Given the description of an element on the screen output the (x, y) to click on. 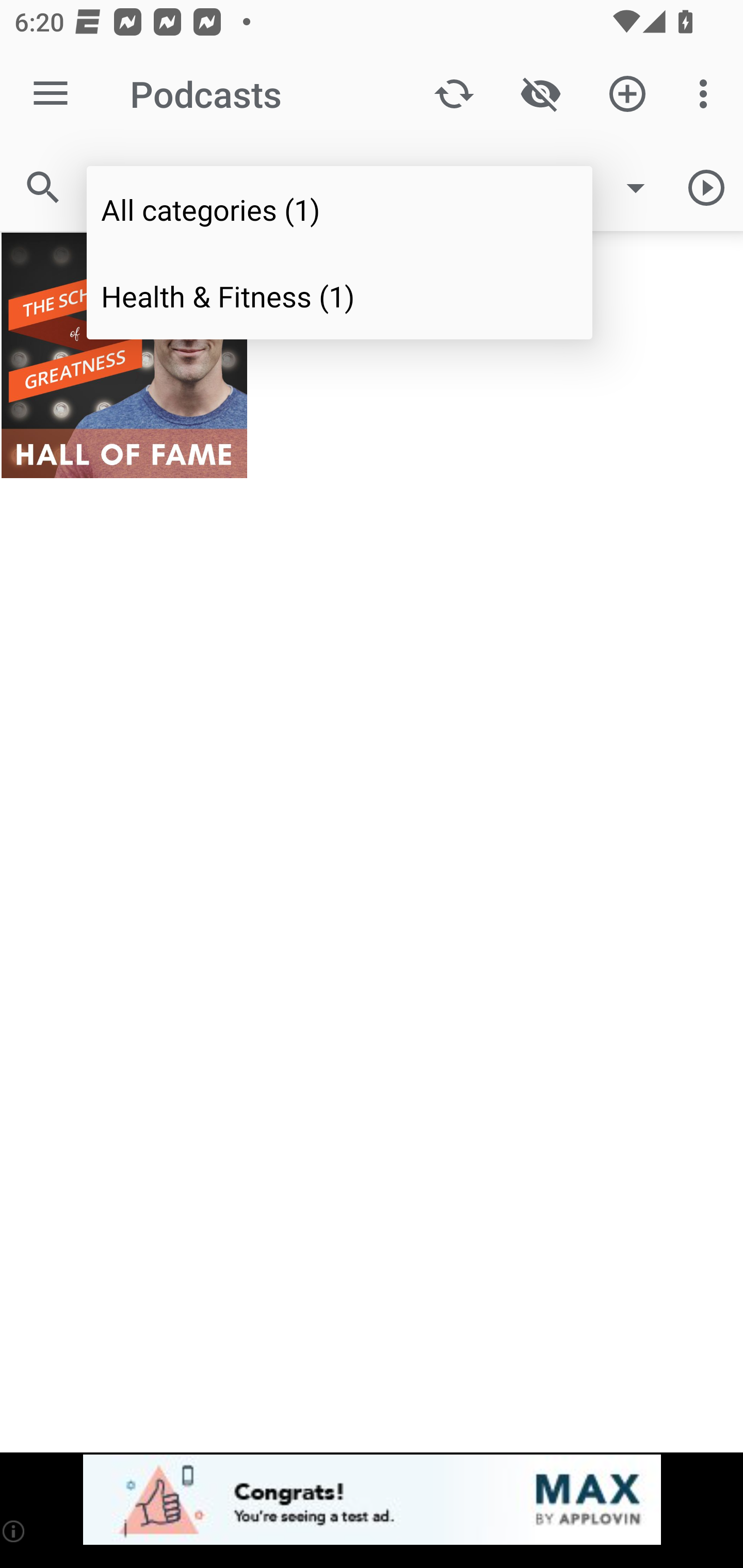
All categories (1) (339, 209)
Health & Fitness (1) (339, 295)
